Given the description of an element on the screen output the (x, y) to click on. 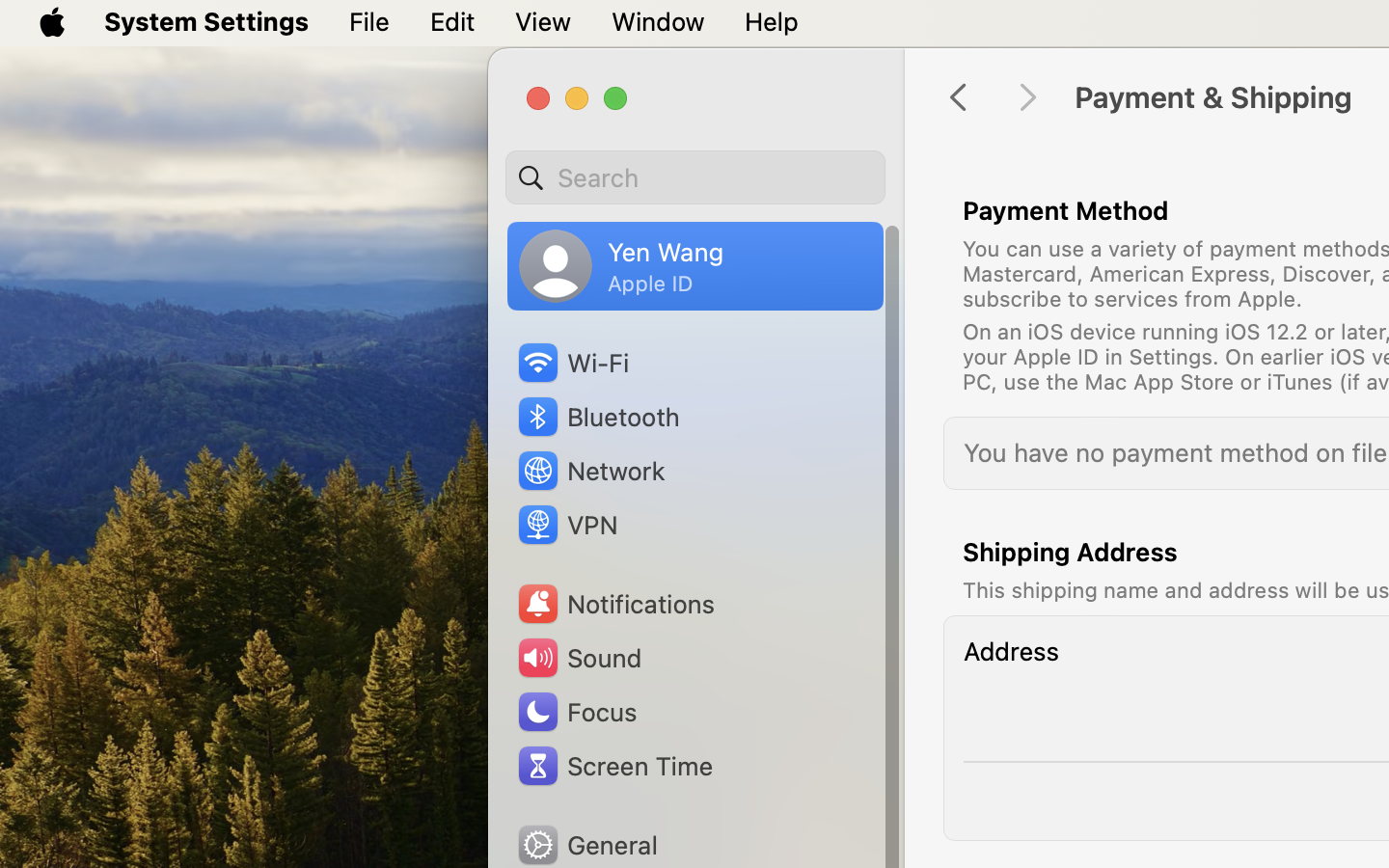
Shipping Address Element type: AXStaticText (1070, 551)
Focus Element type: AXStaticText (575, 711)
Sound Element type: AXStaticText (578, 657)
VPN Element type: AXStaticText (566, 524)
Bluetooth Element type: AXStaticText (597, 416)
